Given the description of an element on the screen output the (x, y) to click on. 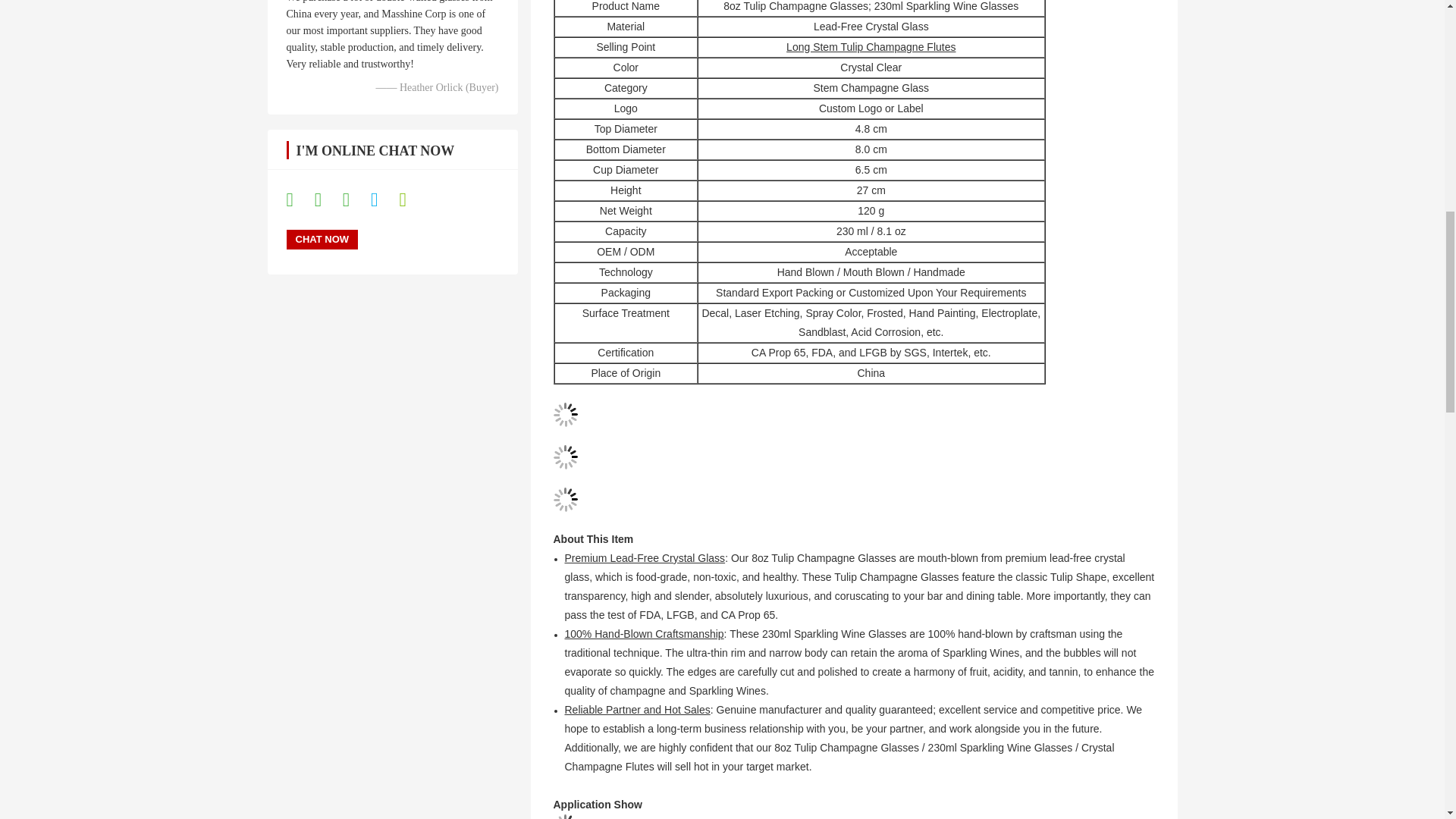
Chat Now (322, 239)
